Given the description of an element on the screen output the (x, y) to click on. 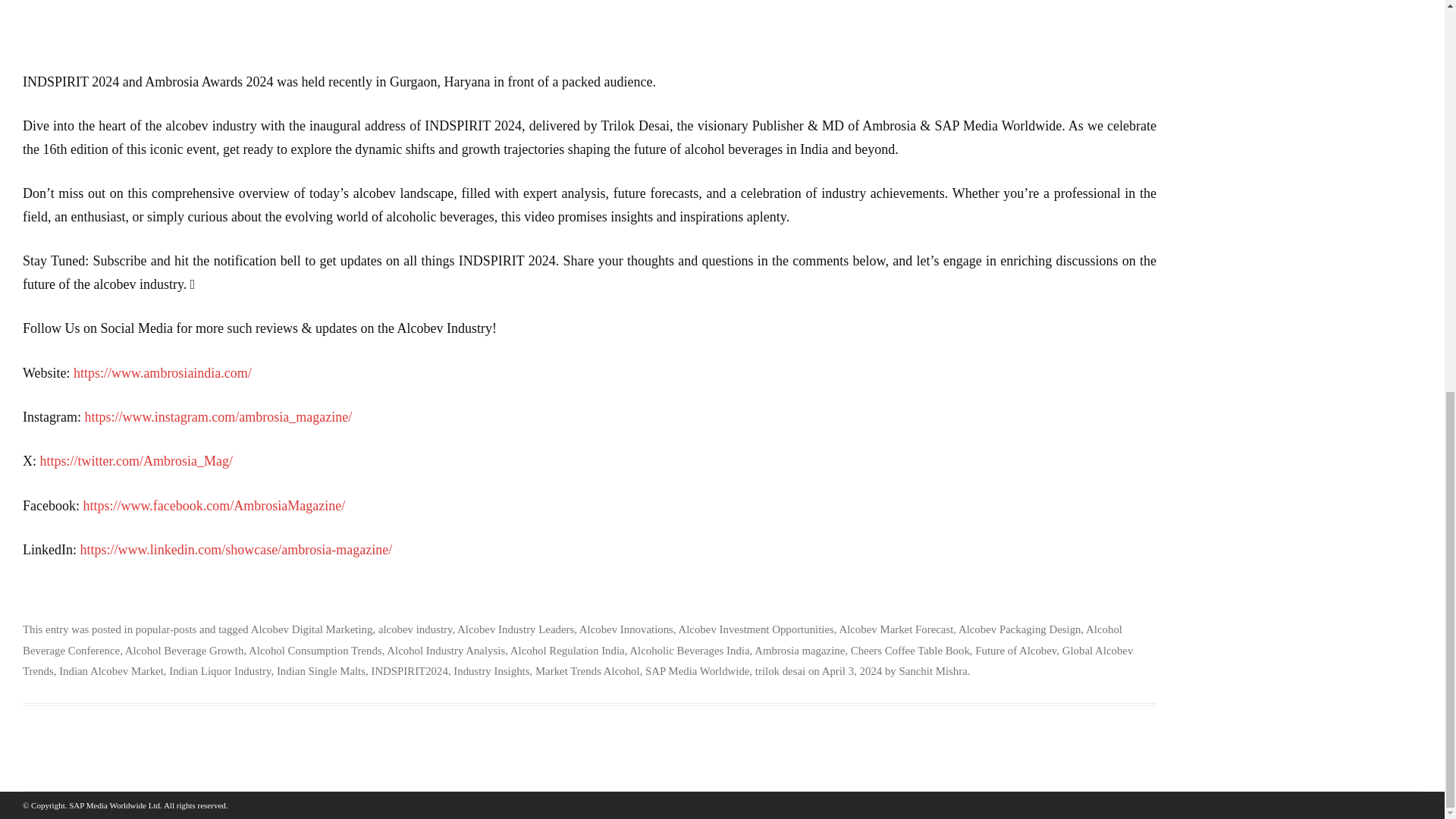
7:30 pm (852, 671)
View all posts by Sanchit Mishra (933, 671)
